Given the description of an element on the screen output the (x, y) to click on. 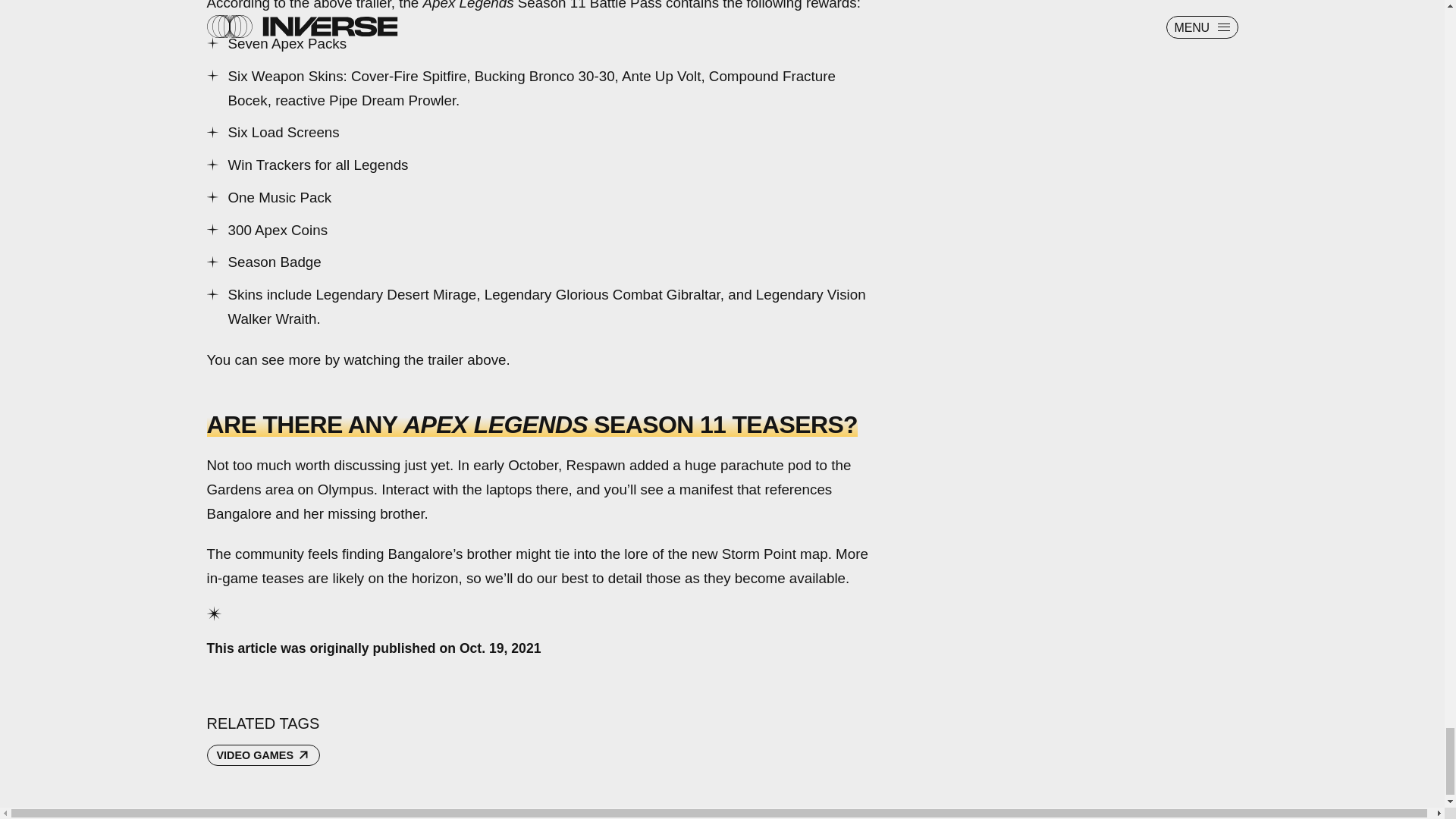
VIDEO GAMES (263, 754)
